Given the description of an element on the screen output the (x, y) to click on. 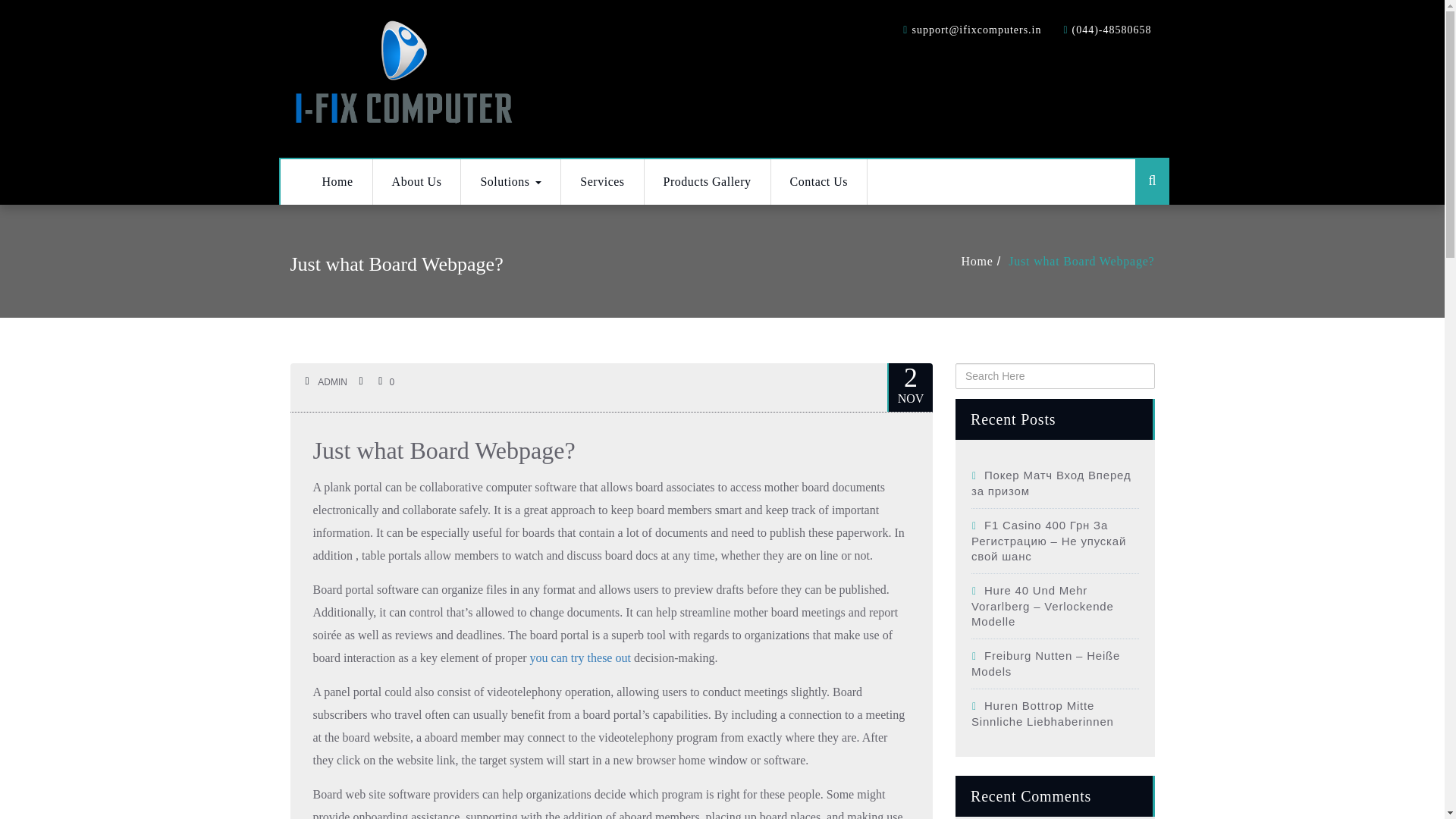
Just what Board Webpage? (444, 450)
you can try these out (579, 657)
Huren Bottrop Mitte Sinnliche Liebhaberinnen (1042, 713)
Solutions (510, 181)
About Us (416, 181)
I-Fix Computers (402, 75)
Services (601, 181)
Home (985, 260)
Products Gallery (708, 181)
Home (337, 181)
